Given the description of an element on the screen output the (x, y) to click on. 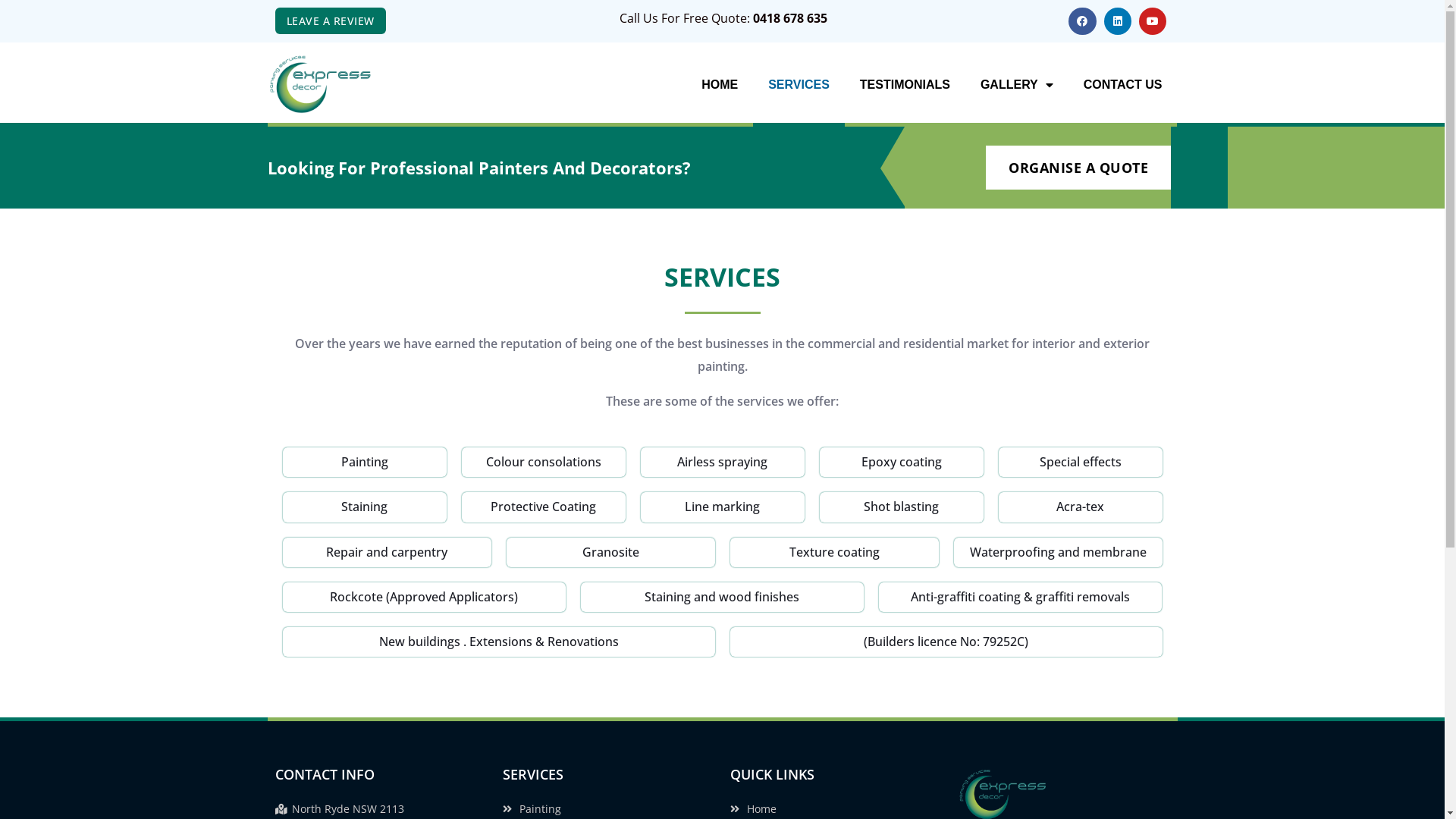
LEAVE A REVIEW Element type: text (329, 20)
CONTACT US Element type: text (1122, 84)
TESTIMONIALS Element type: text (904, 84)
GALLERY Element type: text (1016, 84)
HOME Element type: text (719, 84)
SERVICES Element type: text (798, 84)
ORGANISE A QUOTE Element type: text (1077, 167)
